Given the description of an element on the screen output the (x, y) to click on. 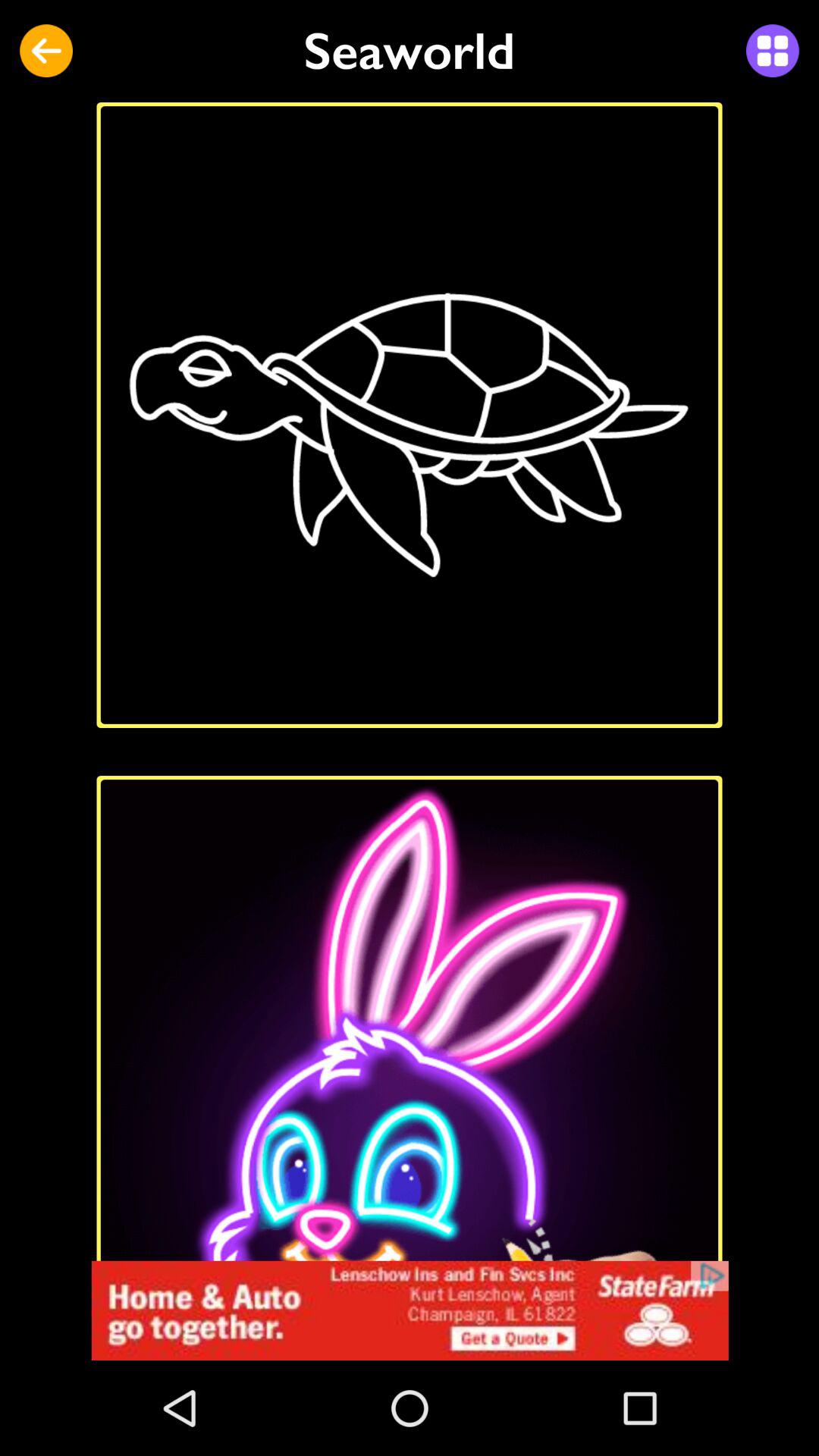
see collection (772, 50)
